Given the description of an element on the screen output the (x, y) to click on. 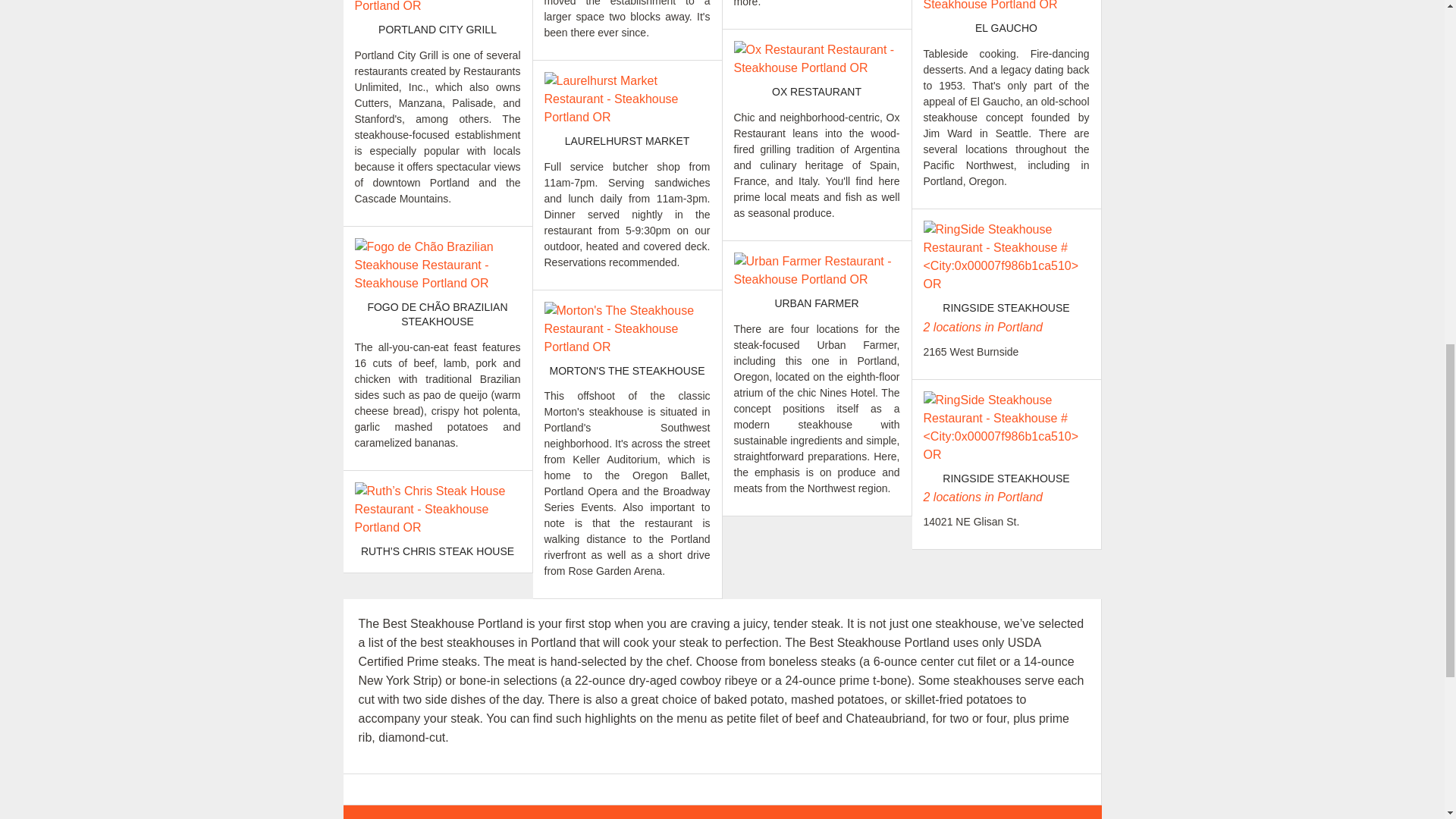
Morton's The Steakhouse (627, 329)
Portland City Grill (438, 7)
Laurelhurst Market (627, 99)
